Given the description of an element on the screen output the (x, y) to click on. 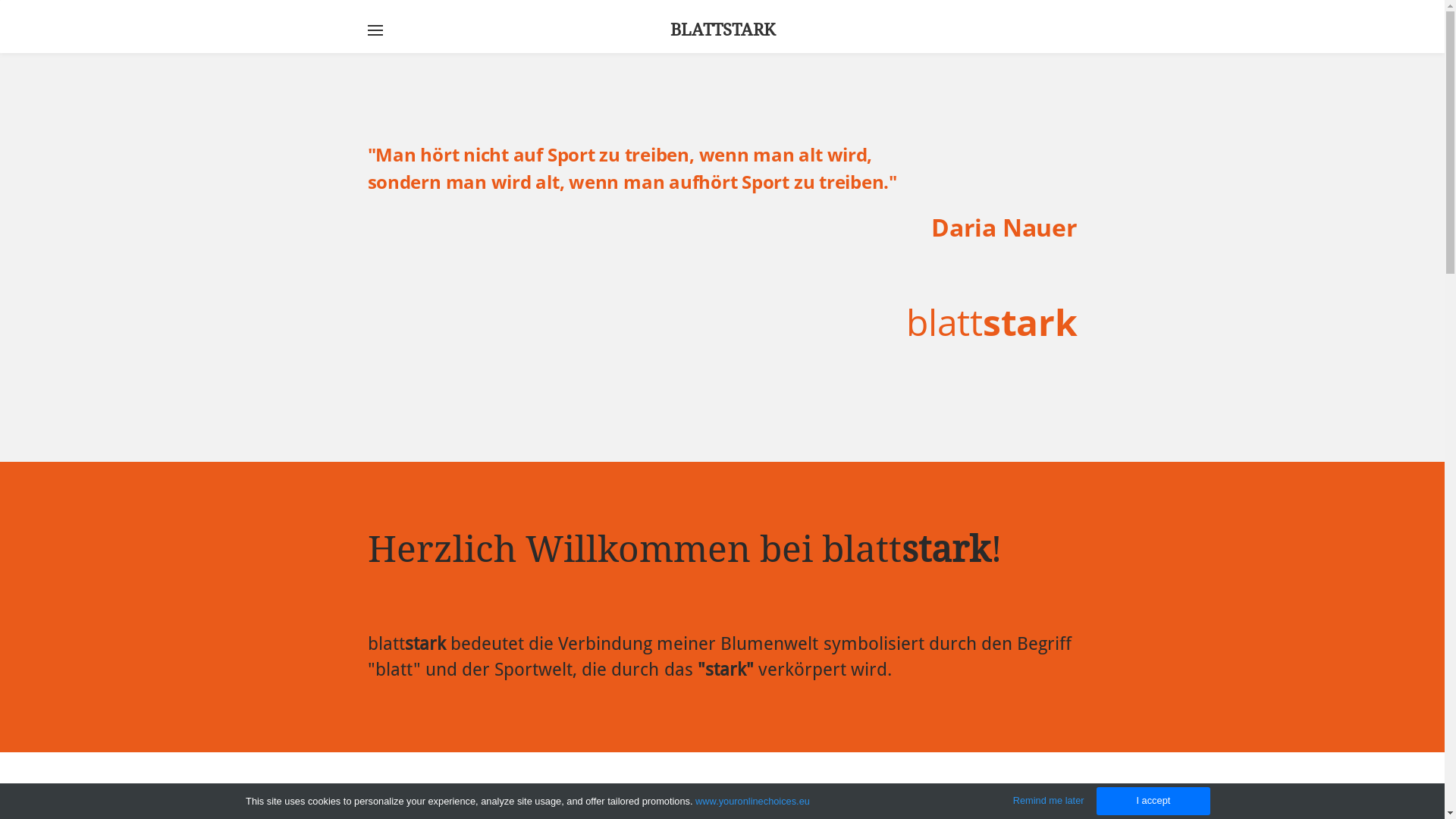
www.youronlinechoices.eu Element type: text (752, 800)
Remind me later Element type: text (1048, 800)
I accept Element type: text (1153, 801)
BLATTSTARK Element type: text (722, 27)
